Given the description of an element on the screen output the (x, y) to click on. 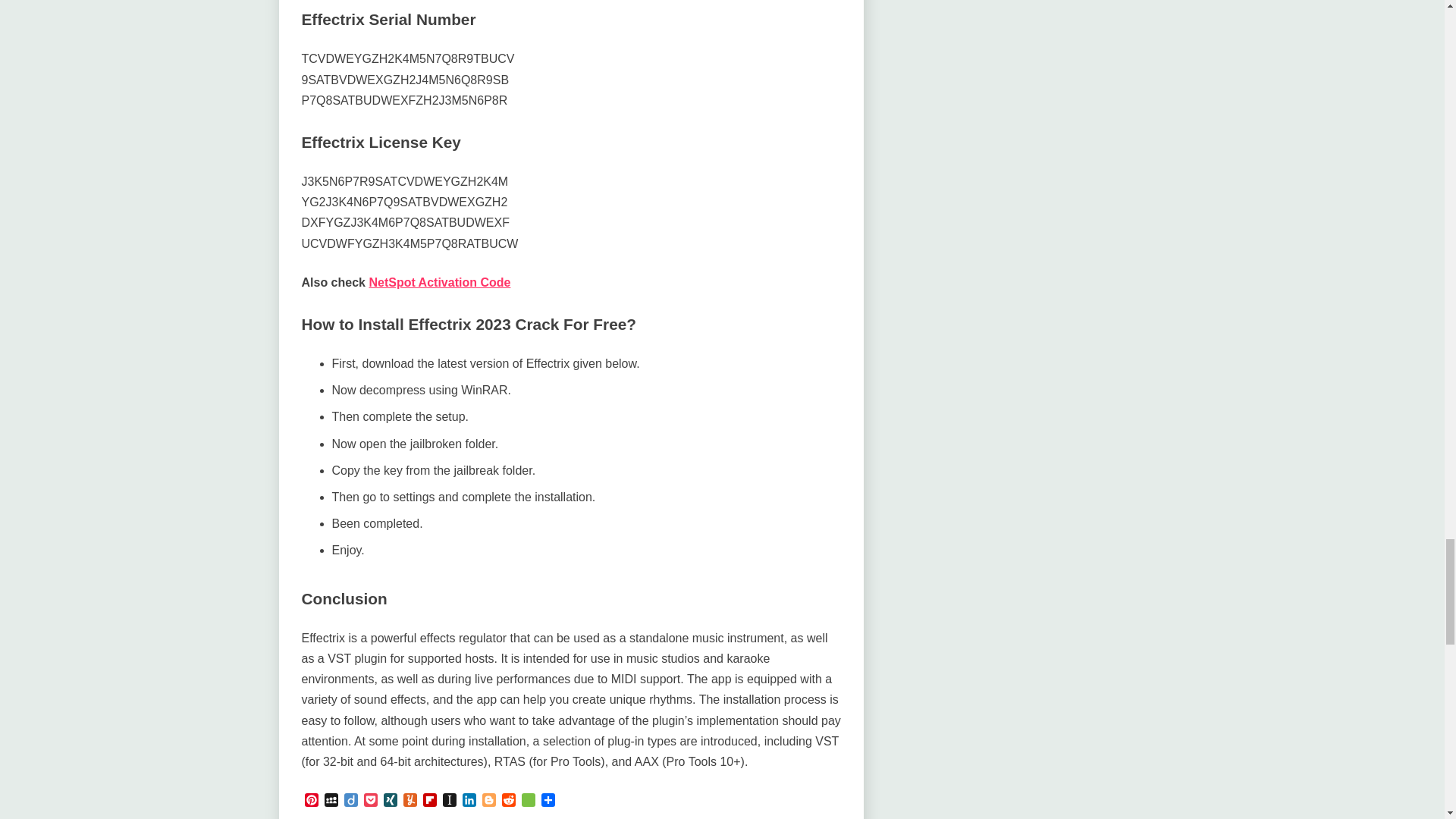
Diigo (350, 801)
Reddit (508, 801)
Houzz (528, 801)
Blogger (489, 801)
Instapaper (449, 801)
LinkedIn (469, 801)
MySpace (330, 801)
LinkedIn (469, 801)
Reddit (508, 801)
Houzz (528, 801)
XING (390, 801)
NetSpot Activation Code (439, 282)
MySpace (330, 801)
Yummly (410, 801)
Flipboard (429, 801)
